Given the description of an element on the screen output the (x, y) to click on. 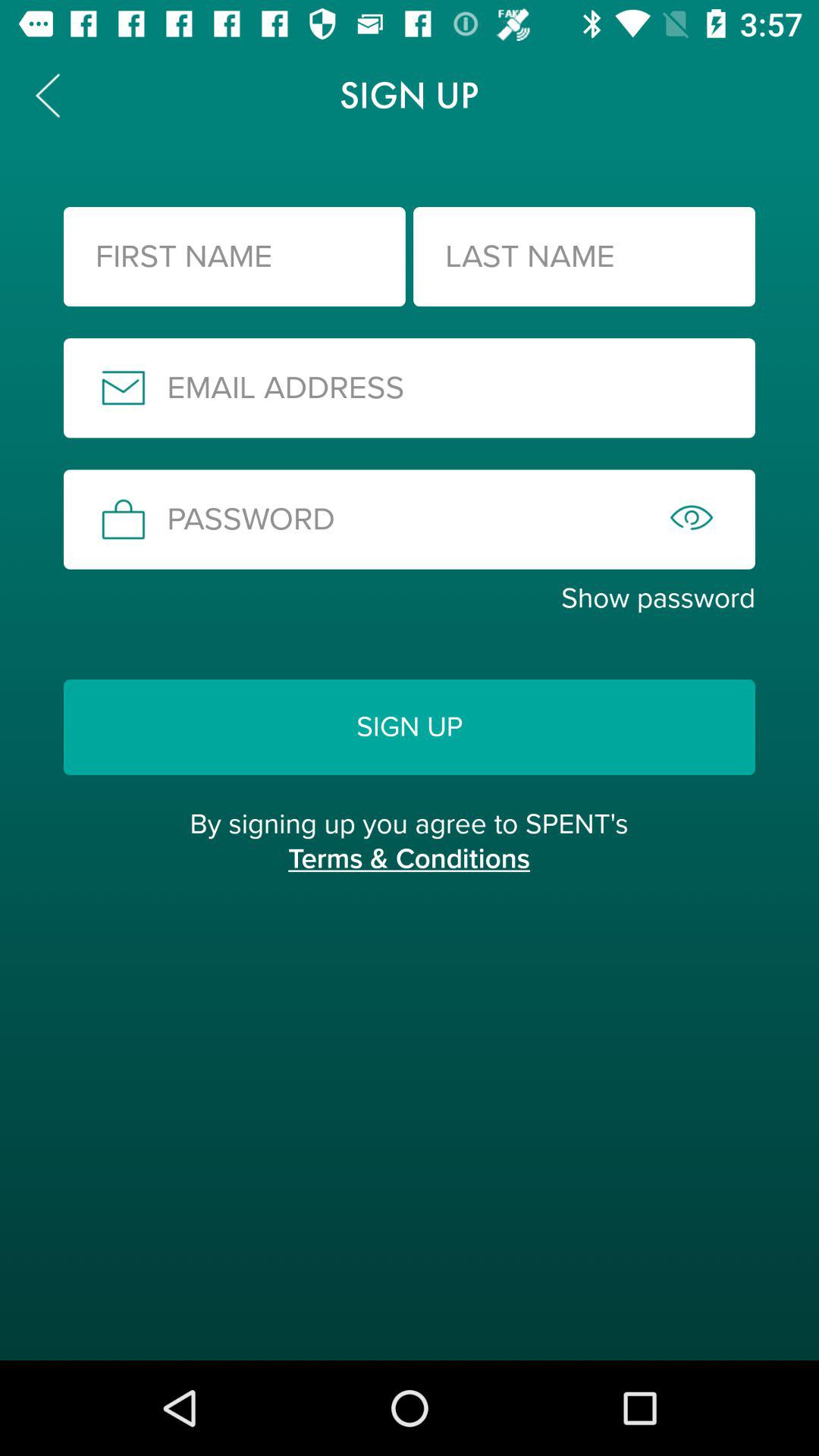
enter first name (234, 256)
